Given the description of an element on the screen output the (x, y) to click on. 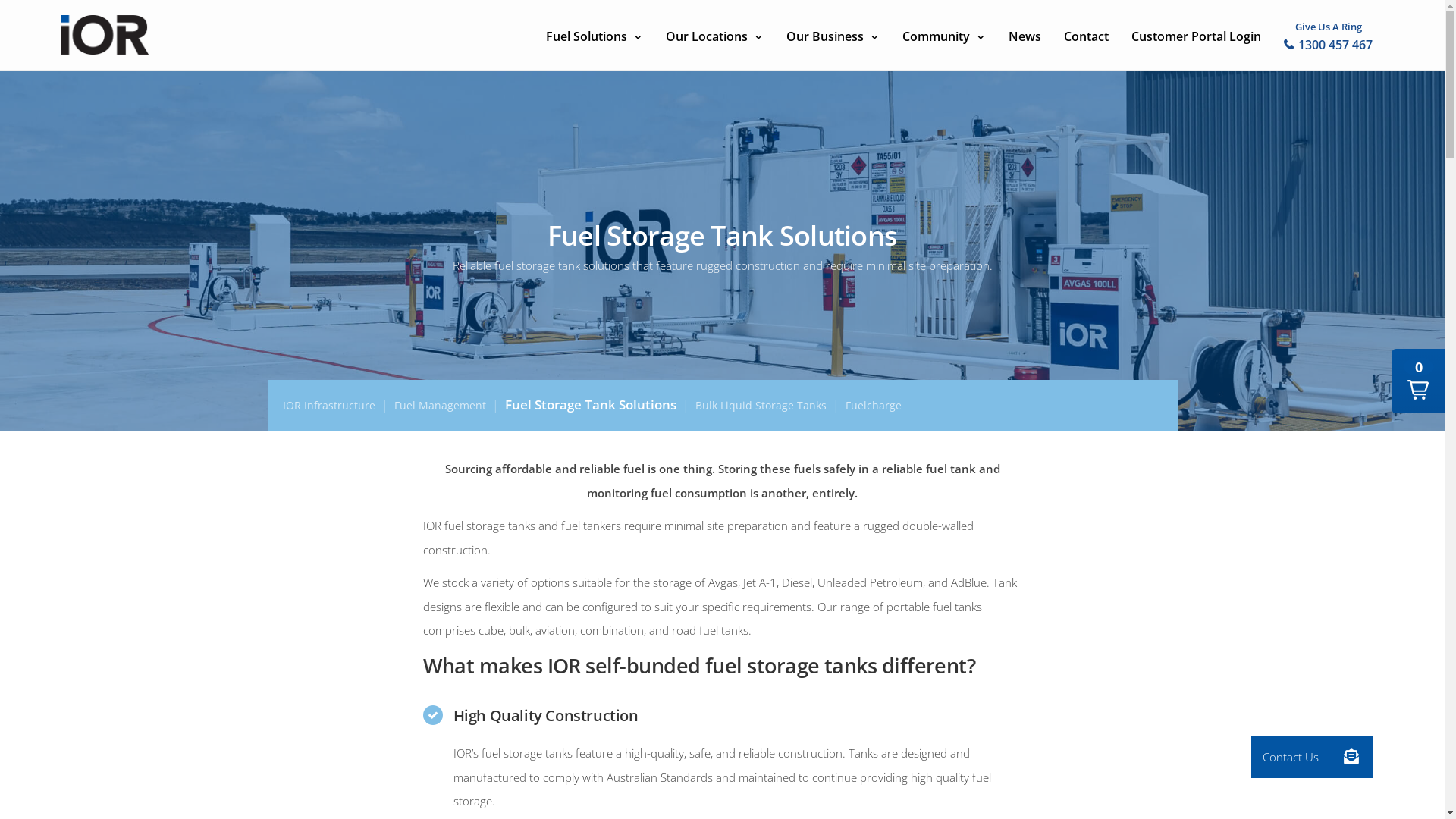
IOR Infrastructure Element type: text (328, 405)
0 Element type: text (1417, 380)
Community Element type: text (944, 34)
Fuel Storage Tank Solutions Element type: text (590, 404)
Fuelcharge Element type: text (872, 405)
Contact Us Element type: text (1351, 756)
Fuel Solutions Element type: text (594, 34)
Our Business Element type: text (833, 34)
Bulk Liquid Storage Tanks Element type: text (759, 405)
Fuel Management Element type: text (440, 405)
Contact Element type: text (1086, 34)
News Element type: text (1024, 34)
Our Locations Element type: text (714, 34)
Give Us A Ring
1300 457 467 Element type: text (1327, 33)
Customer Portal Login Element type: text (1196, 34)
